Given the description of an element on the screen output the (x, y) to click on. 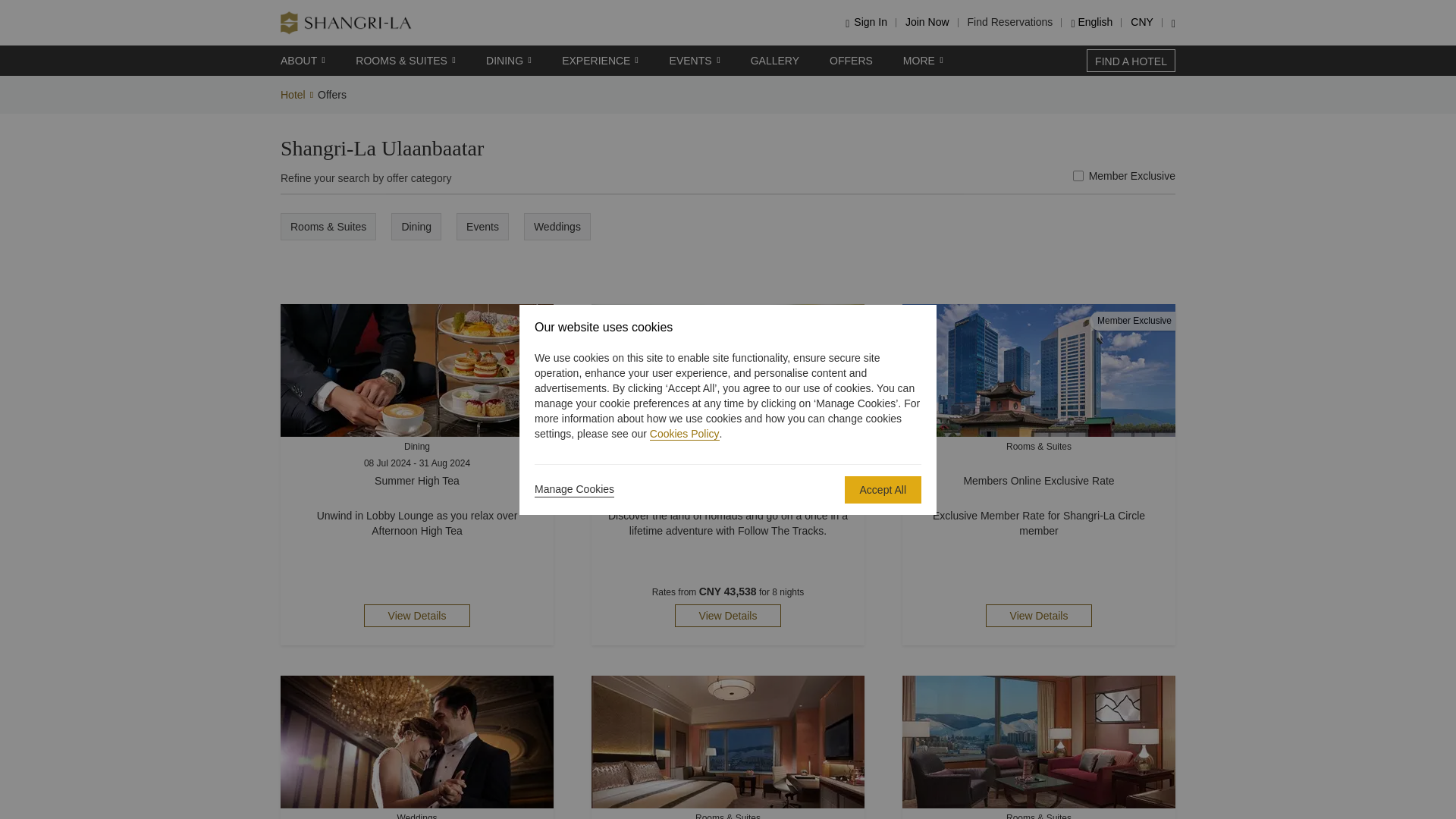
GALLERY (774, 60)
ABOUT (302, 60)
DINING (508, 60)
Find Reservations (1010, 21)
OFFERS (850, 60)
EXPERIENCE (600, 60)
MORE (923, 60)
EVENTS (694, 60)
